Given the description of an element on the screen output the (x, y) to click on. 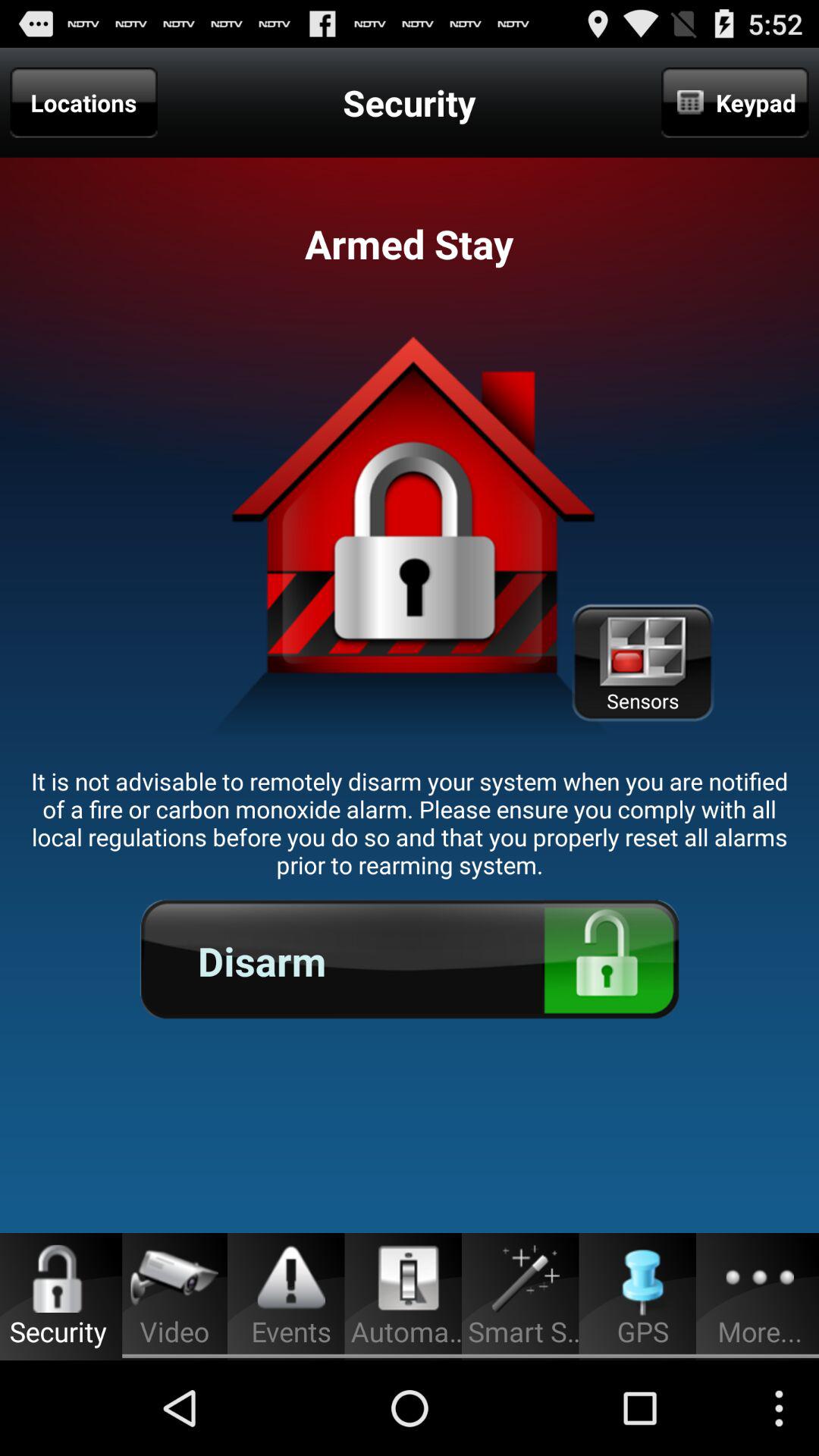
turn on item above the sensors (734, 102)
